Given the description of an element on the screen output the (x, y) to click on. 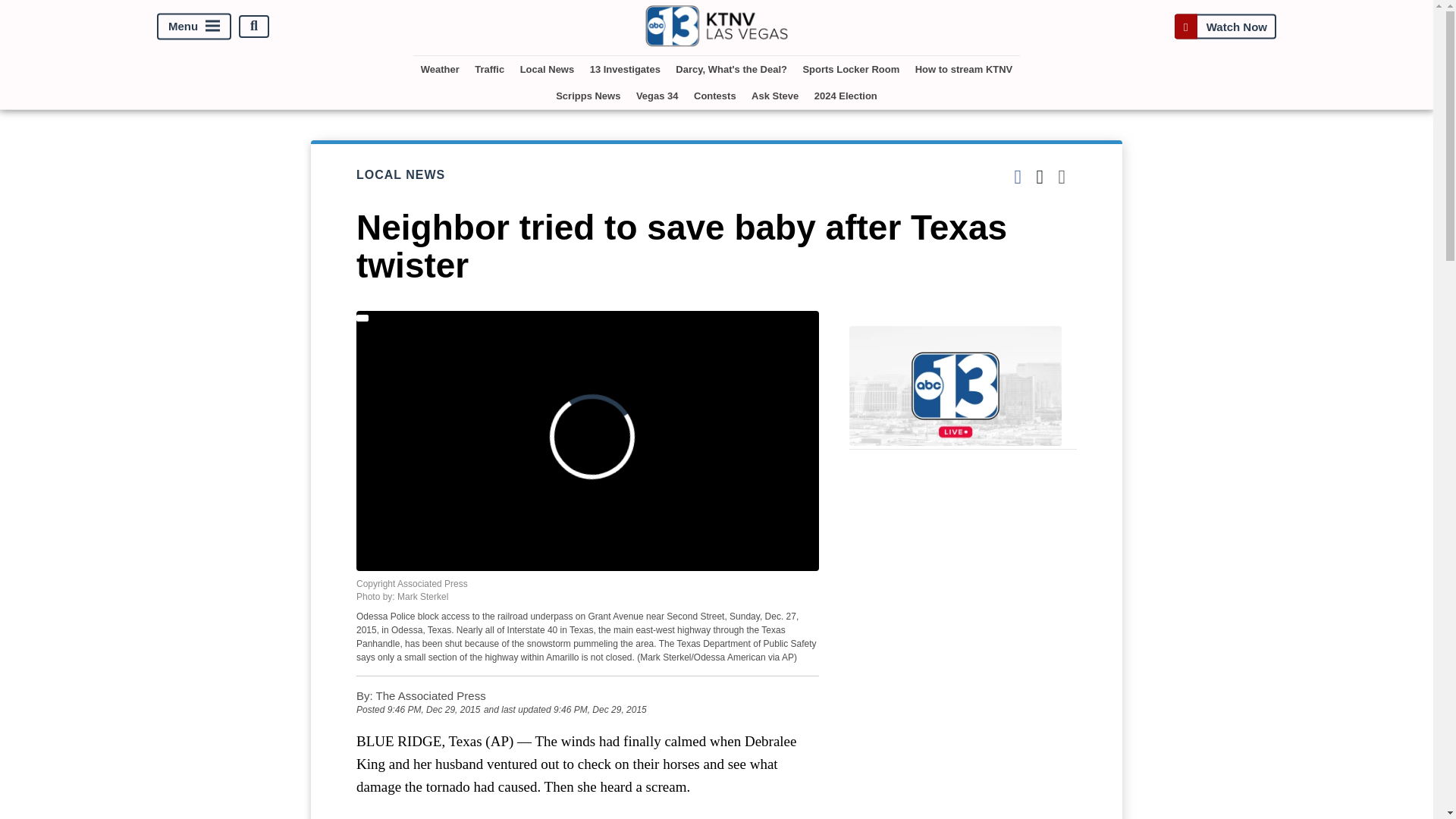
Watch Now (1224, 25)
Menu (194, 26)
